Given the description of an element on the screen output the (x, y) to click on. 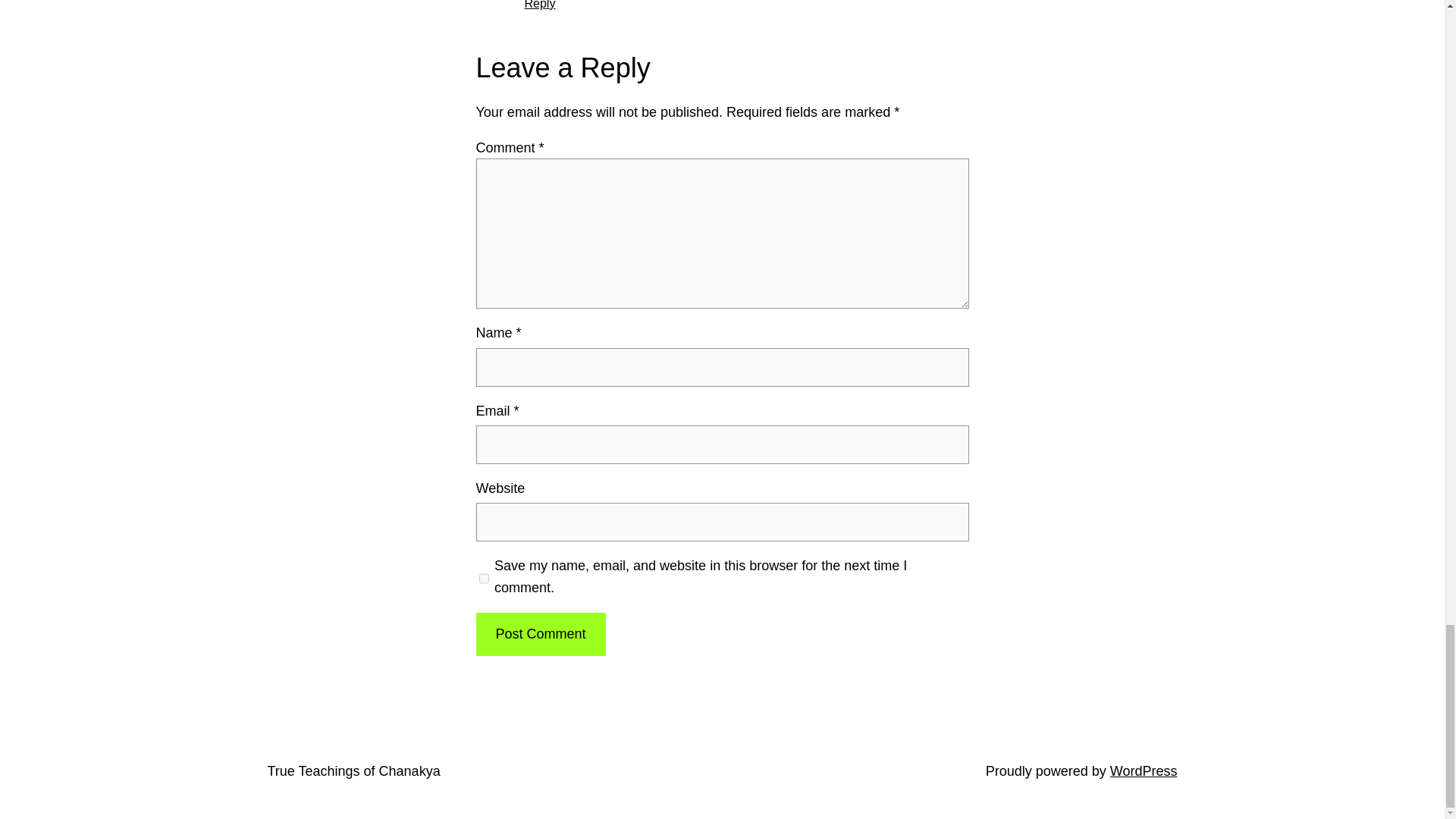
Post Comment (540, 634)
True Teachings of Chanakya (352, 770)
WordPress (1143, 770)
Post Comment (540, 634)
Reply (540, 4)
